Given the description of an element on the screen output the (x, y) to click on. 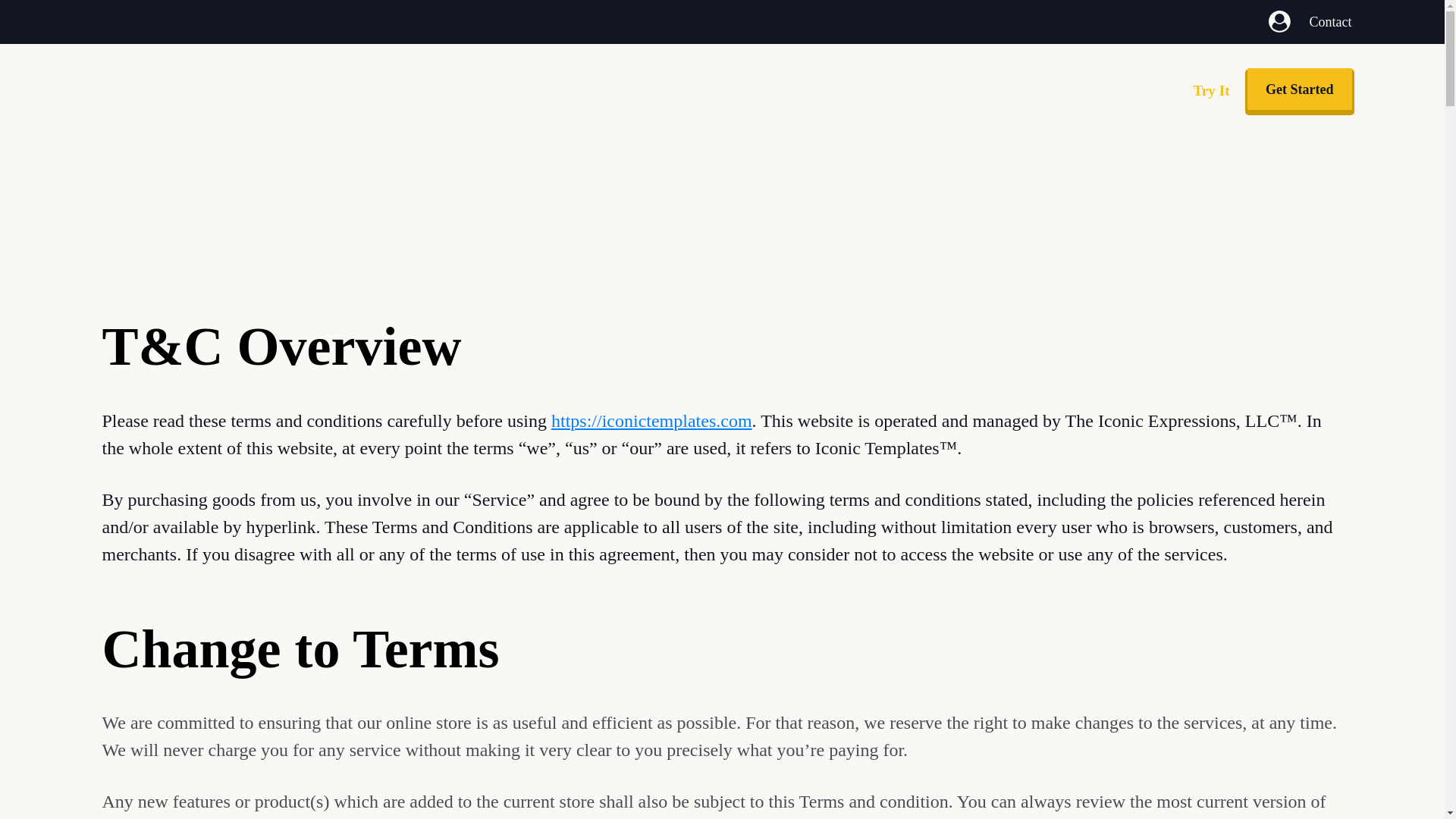
Try It (676, 88)
Contact (1329, 21)
Pricing (815, 88)
About (615, 88)
Home (552, 88)
Shop (743, 88)
